Given the description of an element on the screen output the (x, y) to click on. 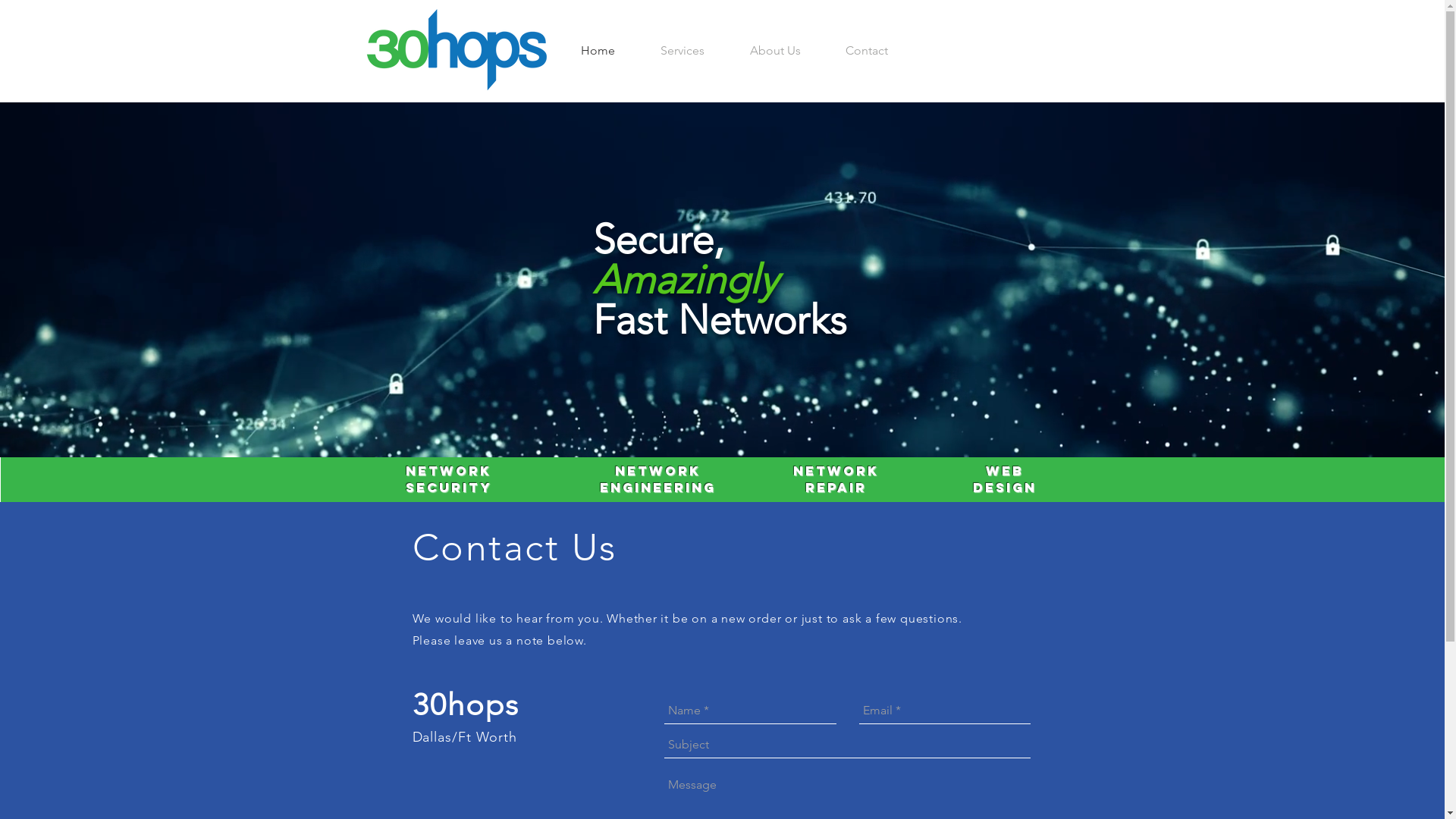
Network security Element type: text (447, 479)
About Us Element type: text (774, 50)
Home Element type: text (597, 50)
Contact Element type: text (866, 50)
Network engineering Element type: text (657, 479)
web design Element type: text (1003, 479)
Network repair Element type: text (835, 479)
Services Element type: text (681, 50)
